Given the description of an element on the screen output the (x, y) to click on. 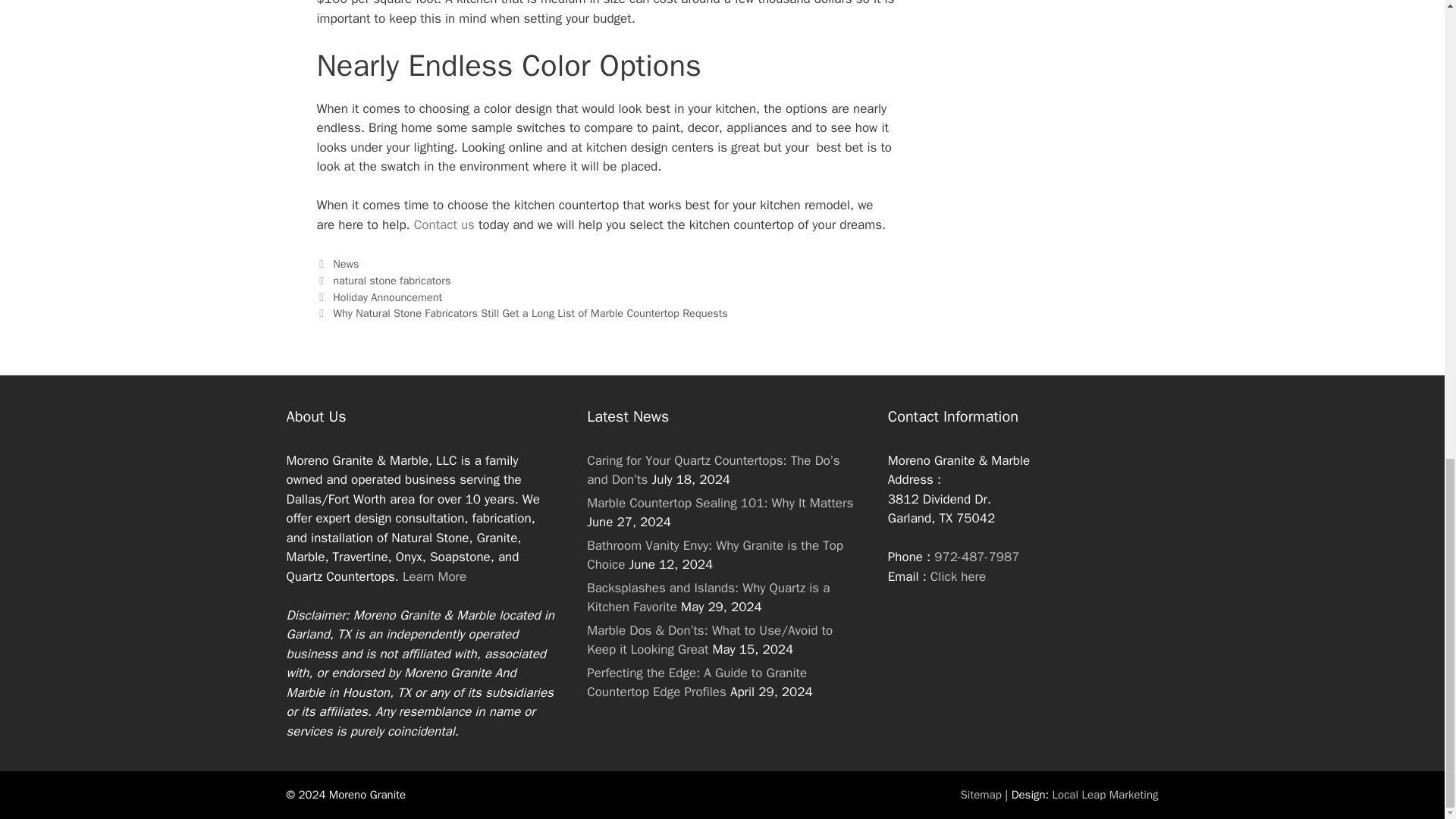
Marble Countertop Sealing 101: Why It Matters (719, 503)
Contact us (443, 224)
Previous (379, 296)
natural stone fabricators (391, 280)
Learn More (434, 576)
Bathroom Vanity Envy: Why Granite is the Top Choice (714, 555)
Holiday Announcement (387, 296)
Next (522, 313)
News (345, 264)
